Given the description of an element on the screen output the (x, y) to click on. 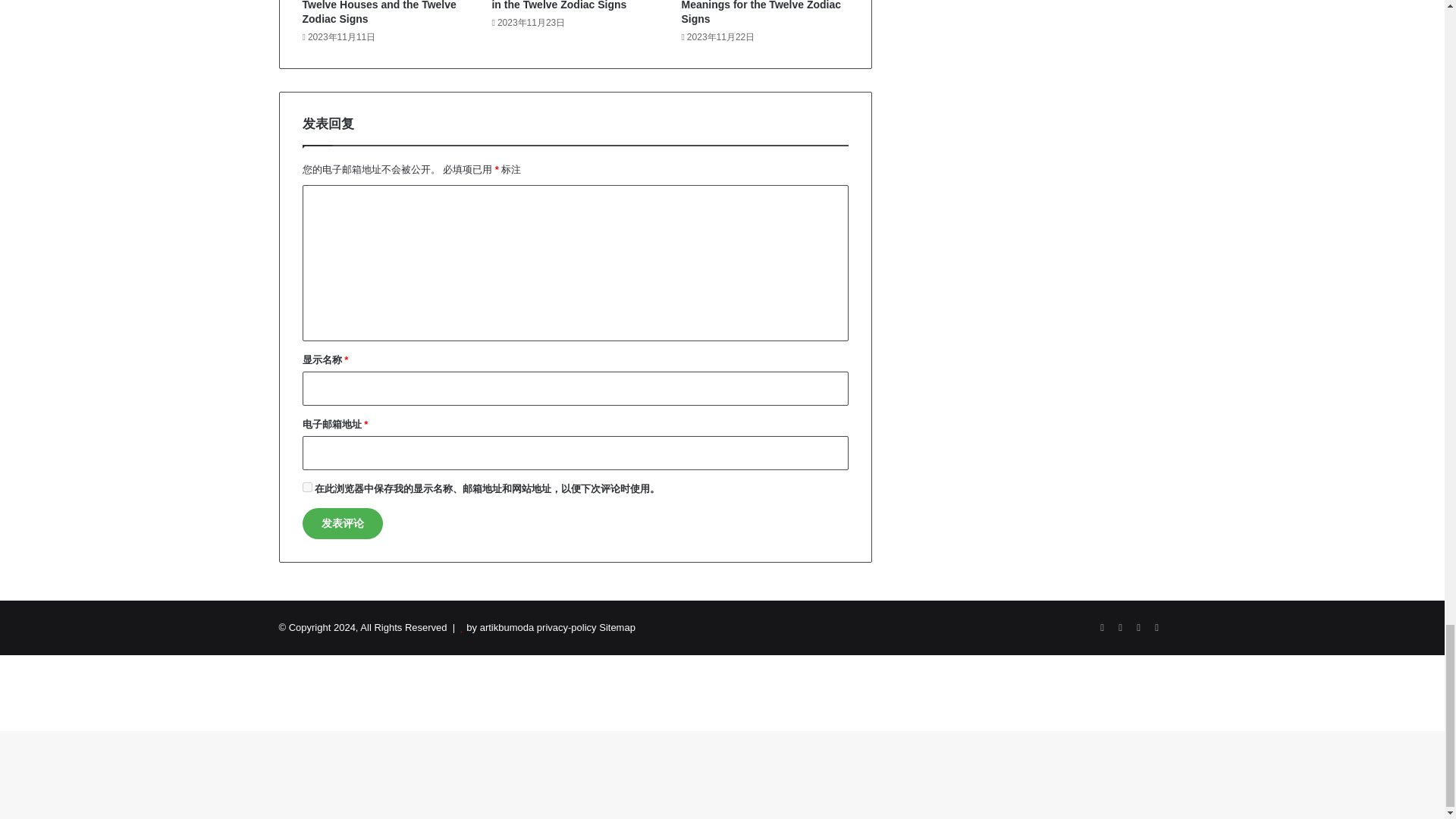
yes (306, 487)
